Given the description of an element on the screen output the (x, y) to click on. 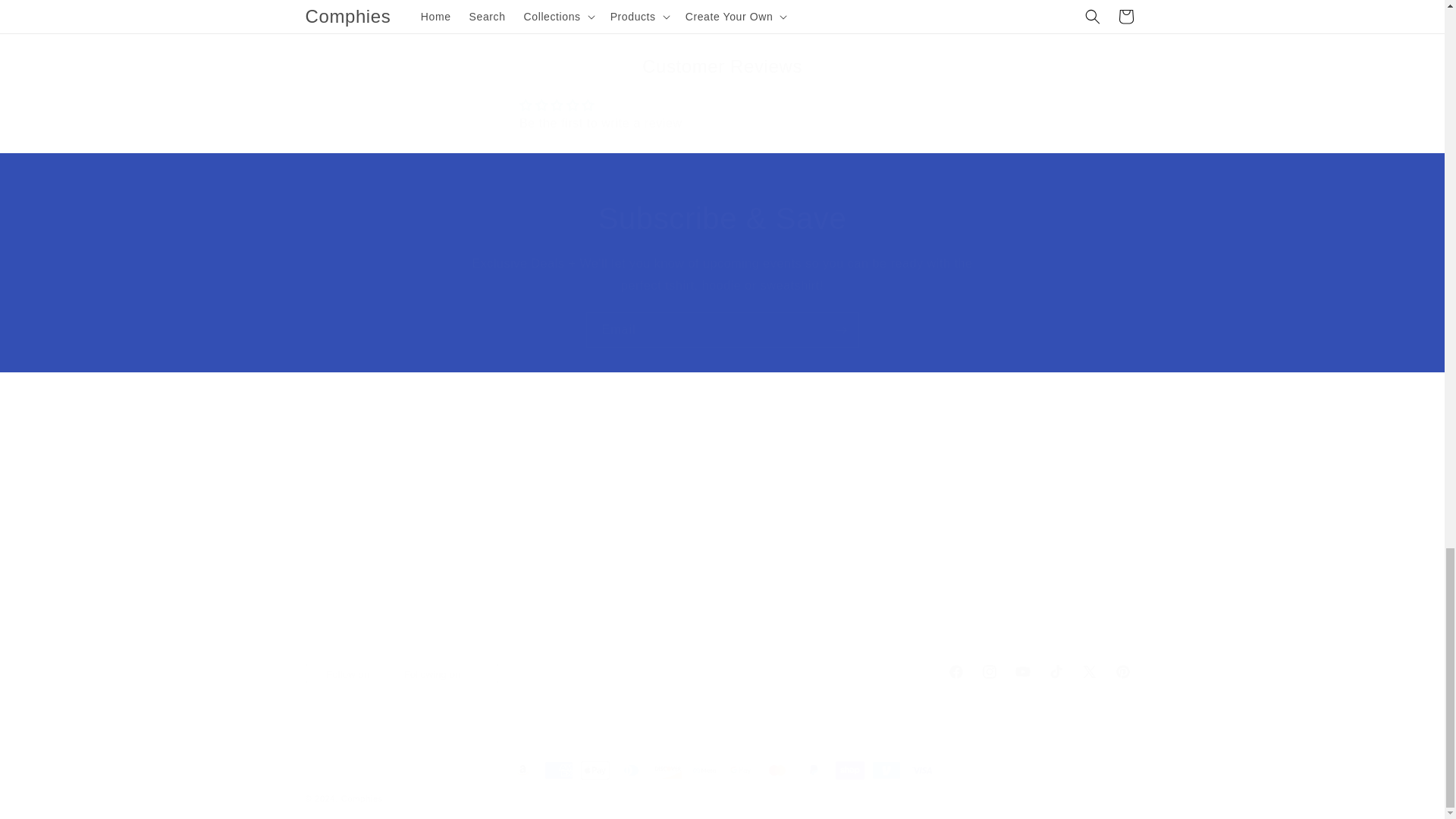
Email (722, 330)
